Given the description of an element on the screen output the (x, y) to click on. 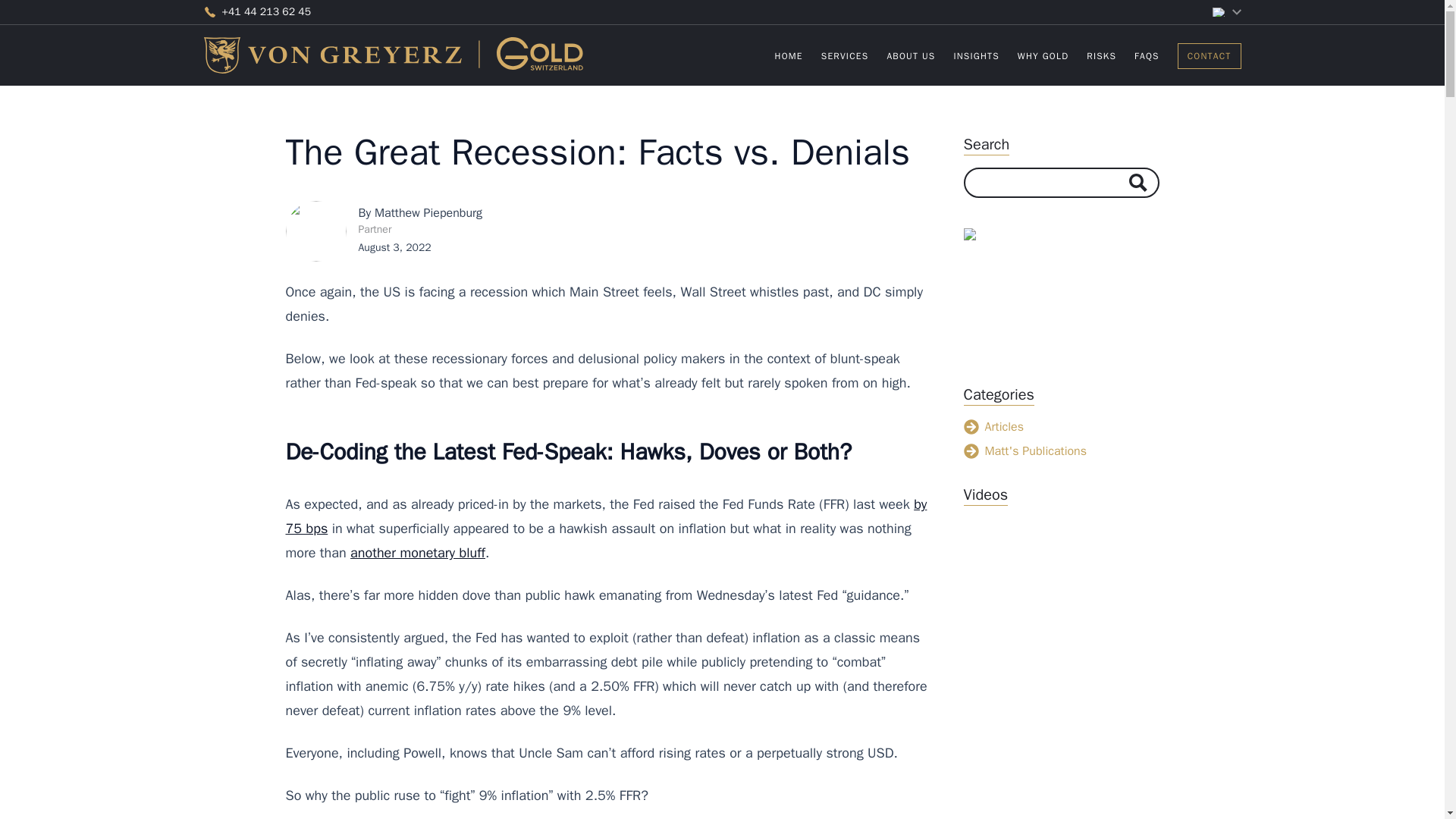
RISKS (1101, 55)
HOME (788, 55)
by 75 bps (605, 516)
ABOUT US (910, 55)
another monetary bluff (417, 552)
SERVICES (845, 55)
CONTACT (1007, 54)
WHY GOLD (1209, 54)
Matthew Piepenburg (1042, 55)
